Given the description of an element on the screen output the (x, y) to click on. 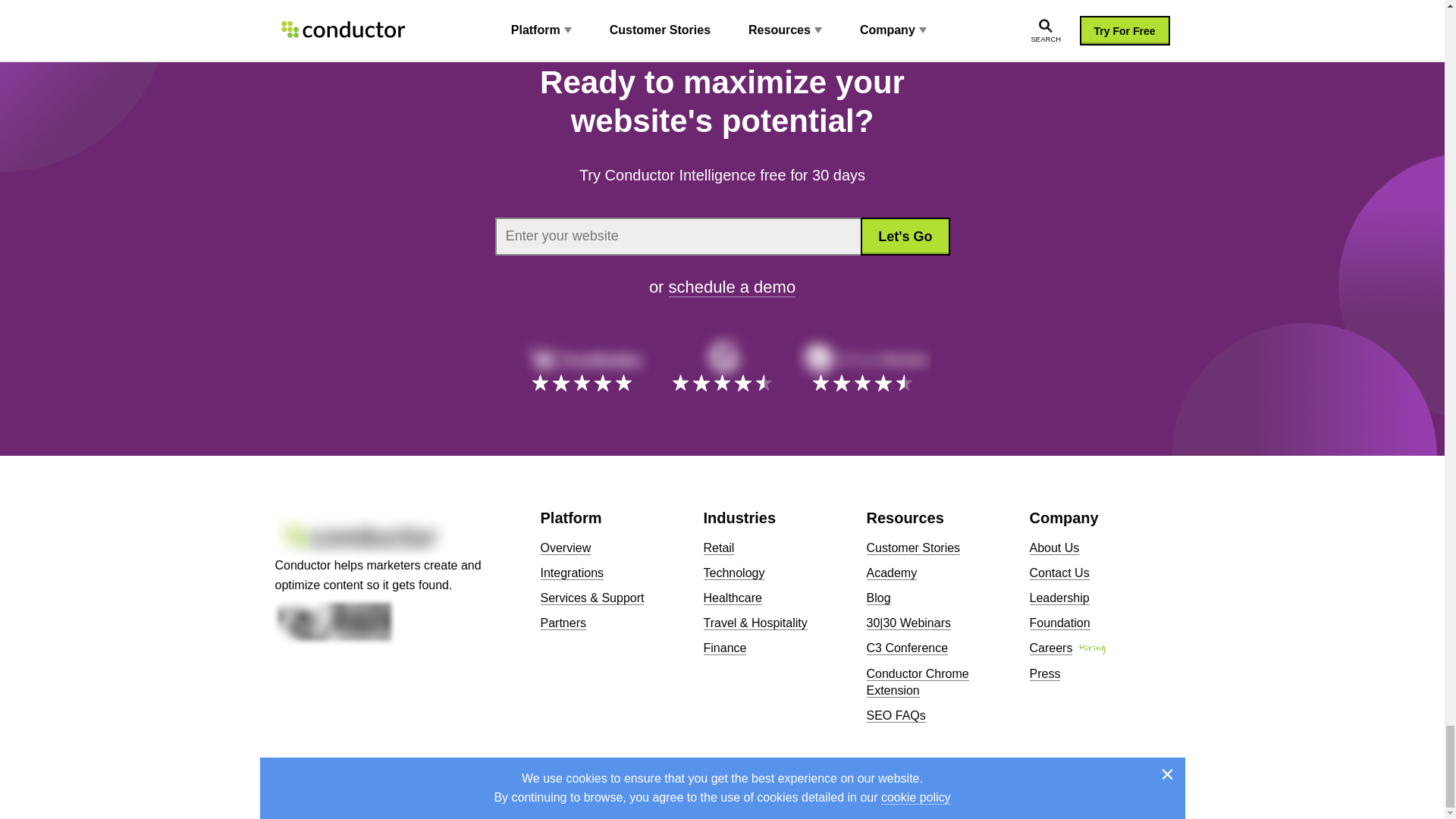
LinkedIn (1126, 778)
YouTube (1156, 778)
X (1096, 778)
